Given the description of an element on the screen output the (x, y) to click on. 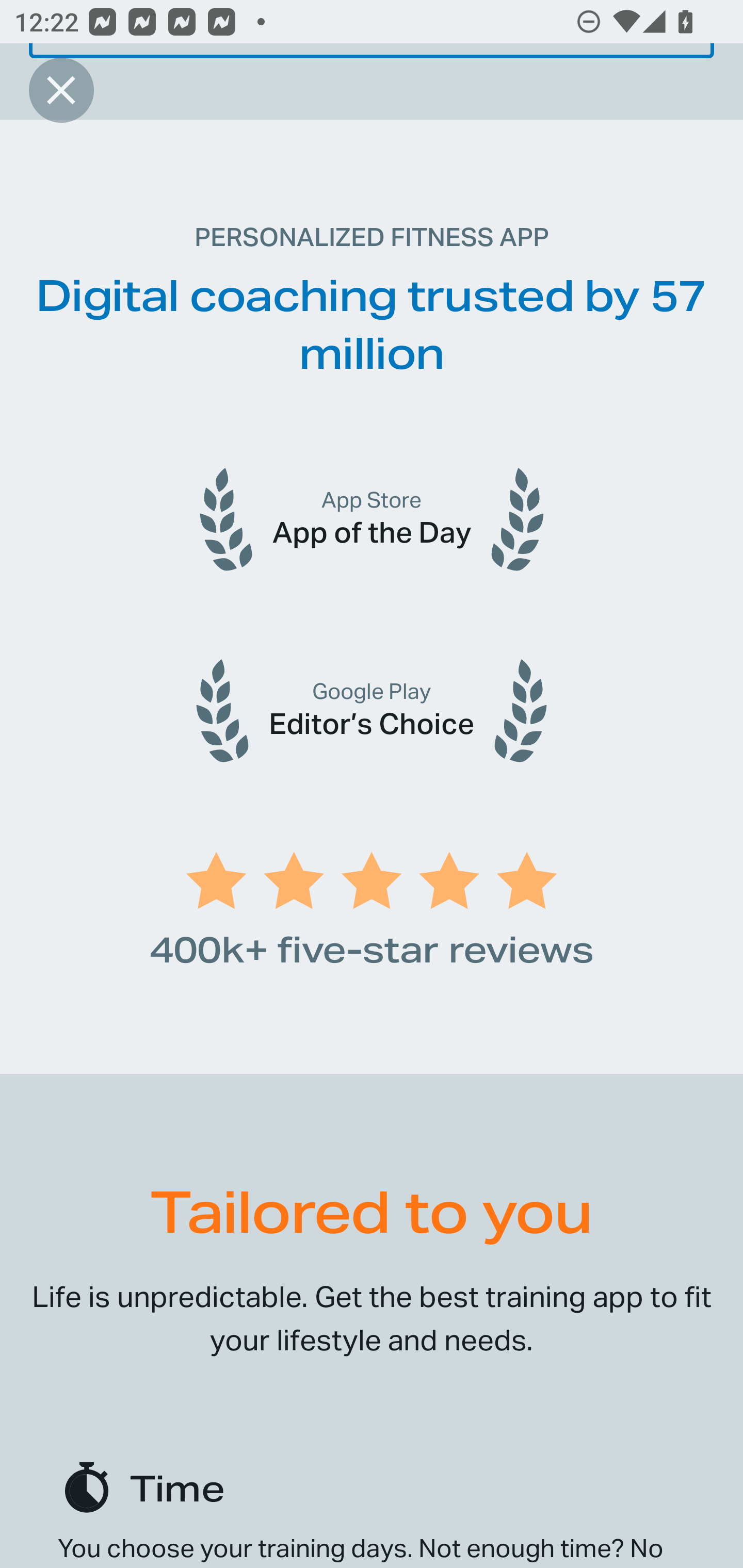
Close (60, 90)
